Given the description of an element on the screen output the (x, y) to click on. 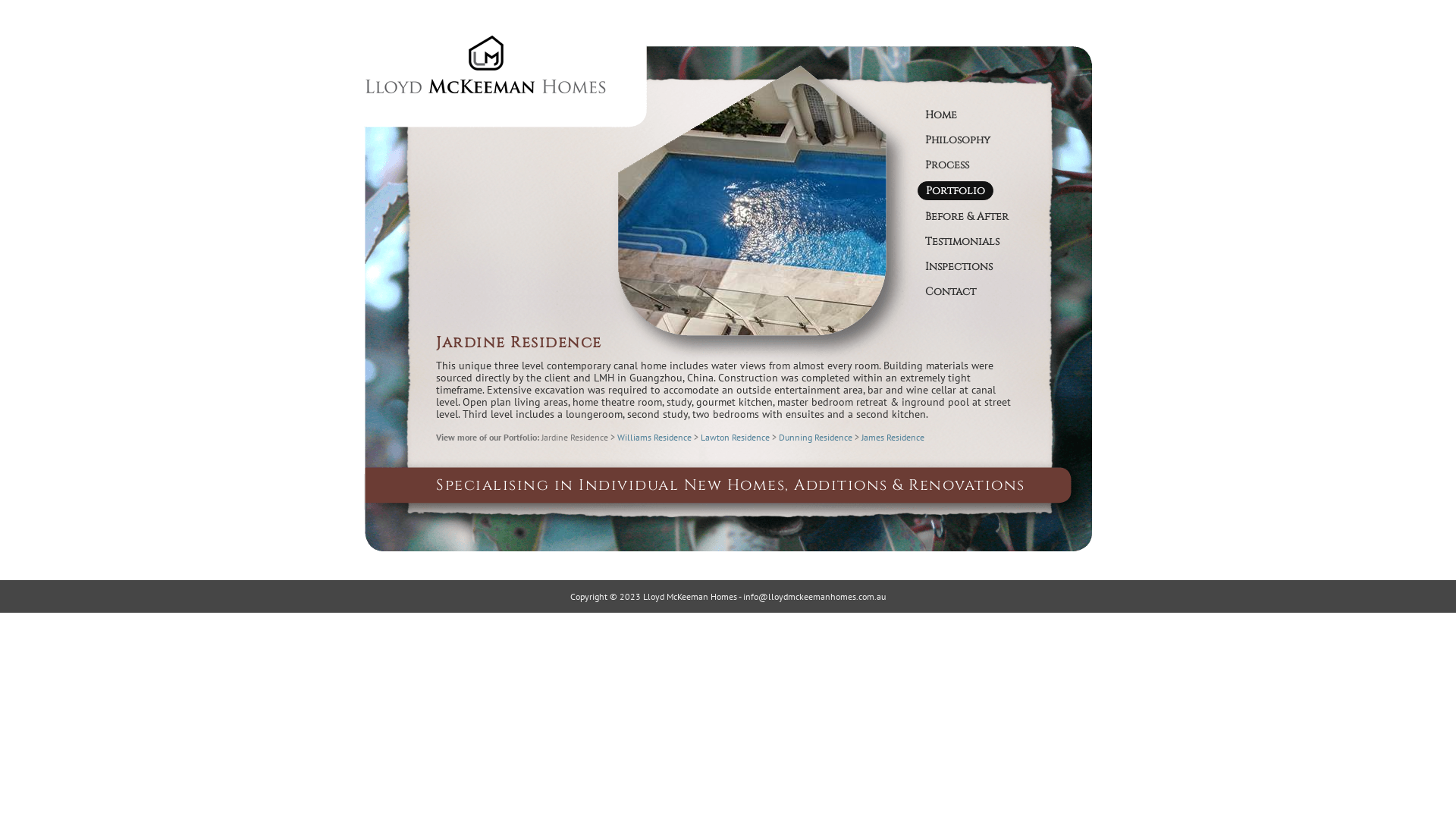
Dunning Residence Element type: text (815, 436)
Portfolio Element type: text (955, 190)
Process Element type: text (946, 164)
Contact Element type: text (950, 291)
Inspections Element type: text (958, 266)
Testimonials Element type: text (962, 241)
Home Element type: text (940, 114)
Before & After Element type: text (966, 216)
Lawton Residence Element type: text (734, 436)
James Residence Element type: text (892, 436)
Philosophy Element type: text (957, 139)
Williams Residence Element type: text (654, 436)
